Given the description of an element on the screen output the (x, y) to click on. 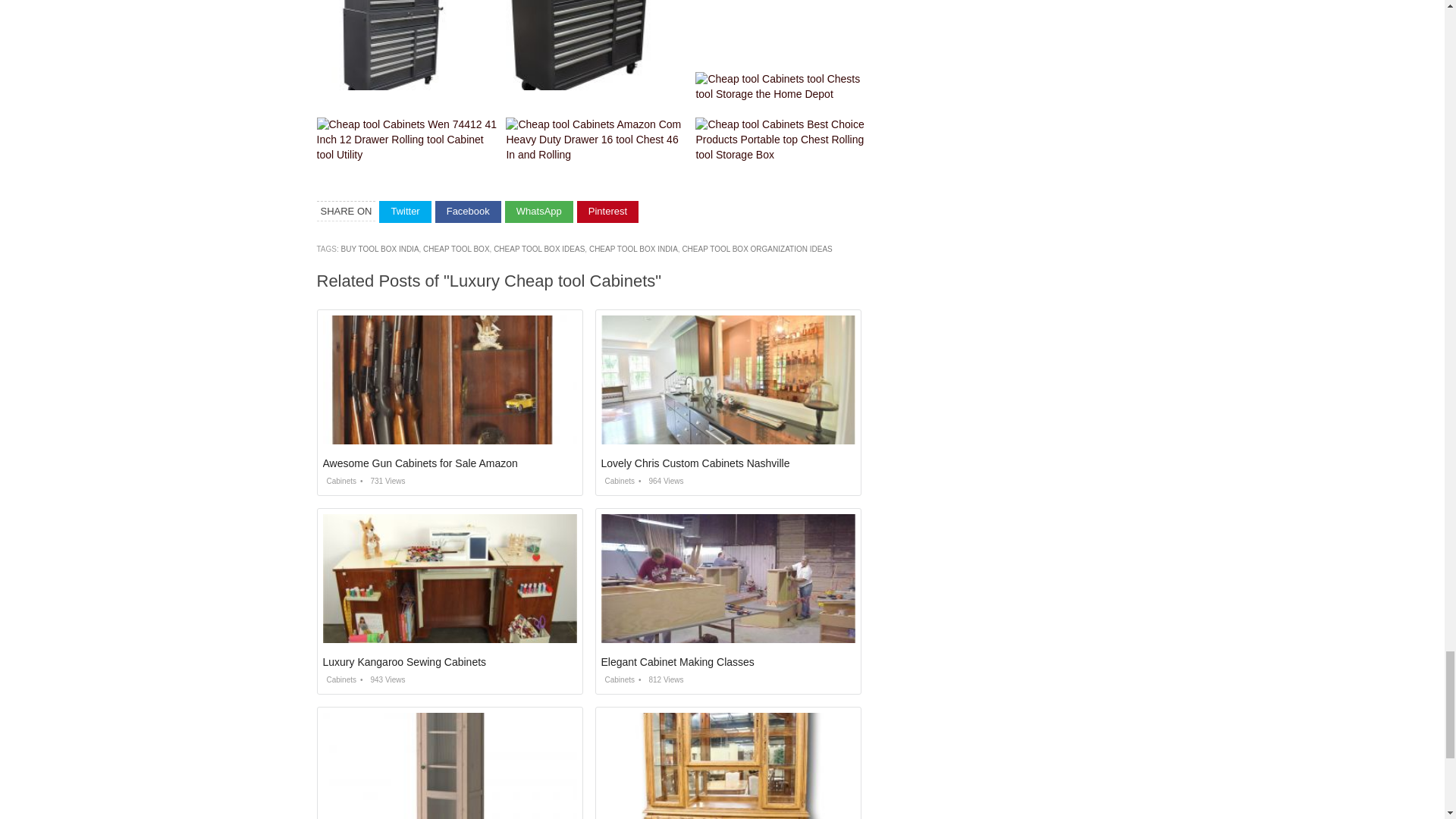
Pinterest (607, 211)
Share on Twitter (404, 211)
CHEAP TOOL BOX (456, 248)
CHEAP TOOL BOX IDEAS (539, 248)
Cheap tool Cabinets tool Chests tool Storage the Home Depot (786, 87)
Elegant Cabinet Making Classes (676, 662)
Cabinets (616, 480)
Cabinets (339, 679)
Awesome Gun Cabinets for Sale Amazon (420, 463)
Lovely Chris Custom Cabinets Nashville (694, 463)
Luxury Kangaroo Sewing Cabinets (404, 662)
Facebook (467, 211)
Cabinets (616, 679)
